Given the description of an element on the screen output the (x, y) to click on. 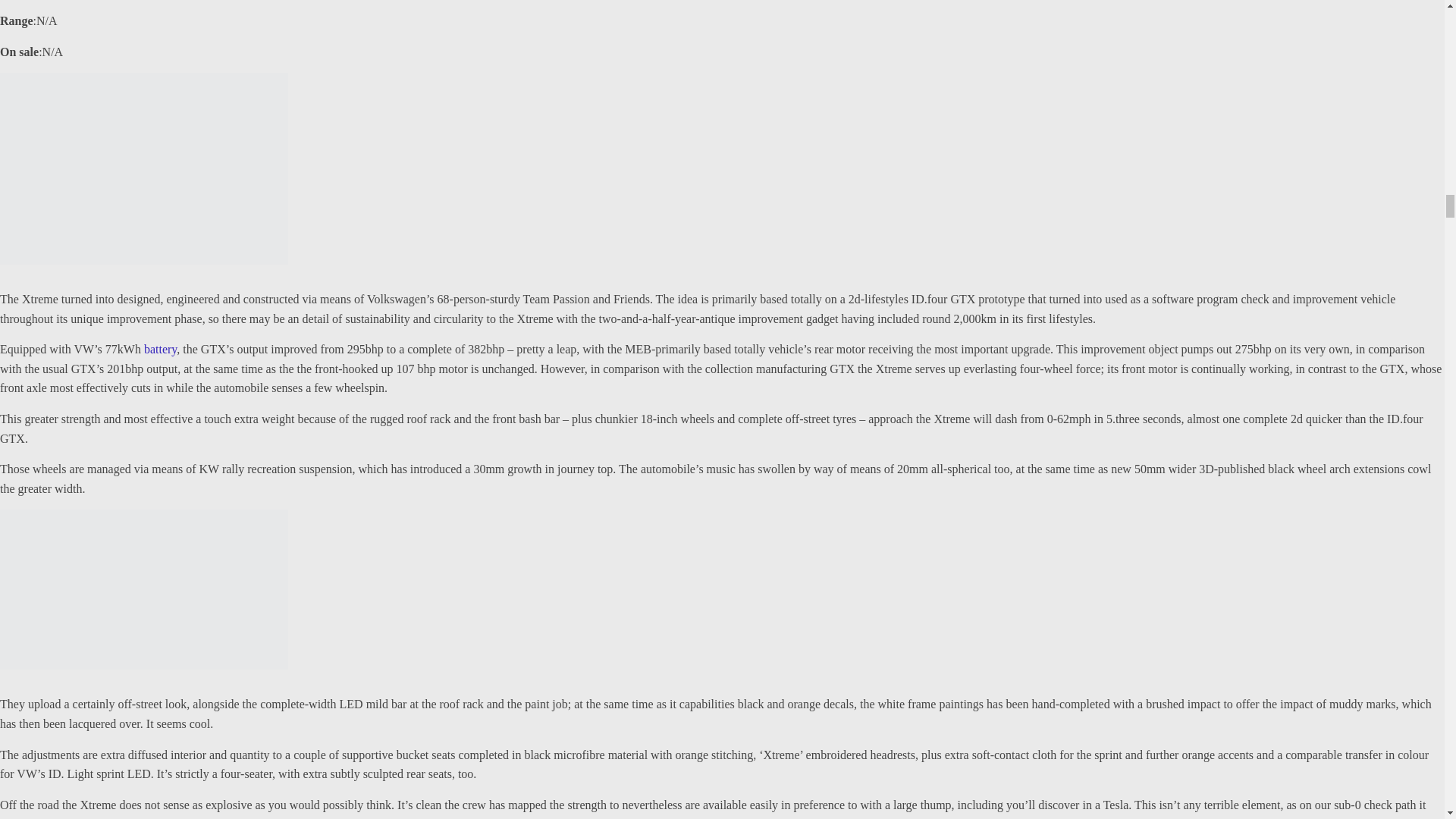
New Volkswagen ID. Xtreme idea review 3 (144, 168)
New Volkswagen ID. Xtreme idea review 4 (144, 589)
battery (160, 349)
